Given the description of an element on the screen output the (x, y) to click on. 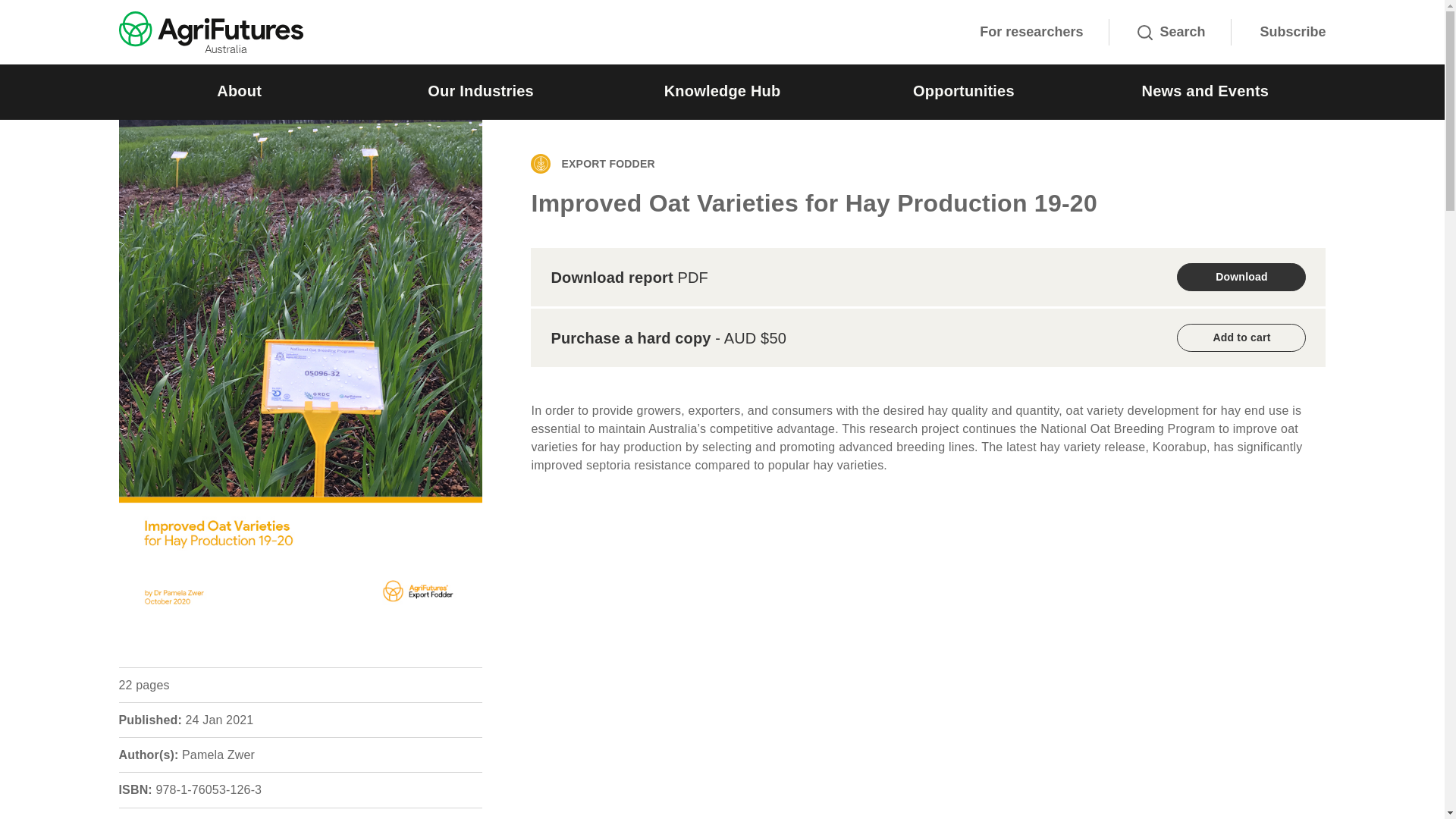
For researchers (1031, 31)
About (238, 91)
Search (1171, 31)
Our Industries (480, 91)
Opportunities (963, 91)
Subscribe (1291, 31)
Knowledge Hub (722, 91)
